Given the description of an element on the screen output the (x, y) to click on. 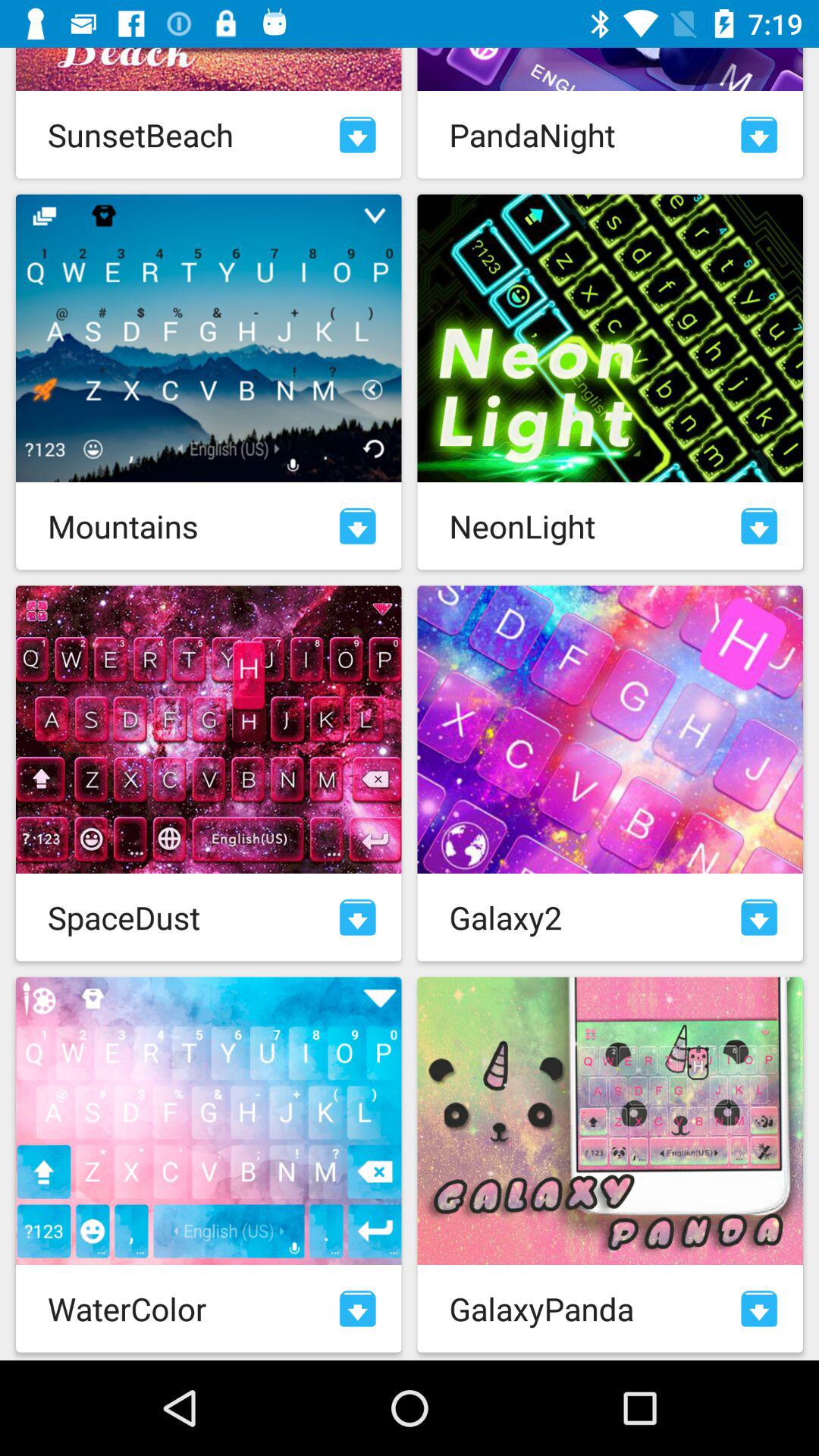
open tab (759, 134)
